Given the description of an element on the screen output the (x, y) to click on. 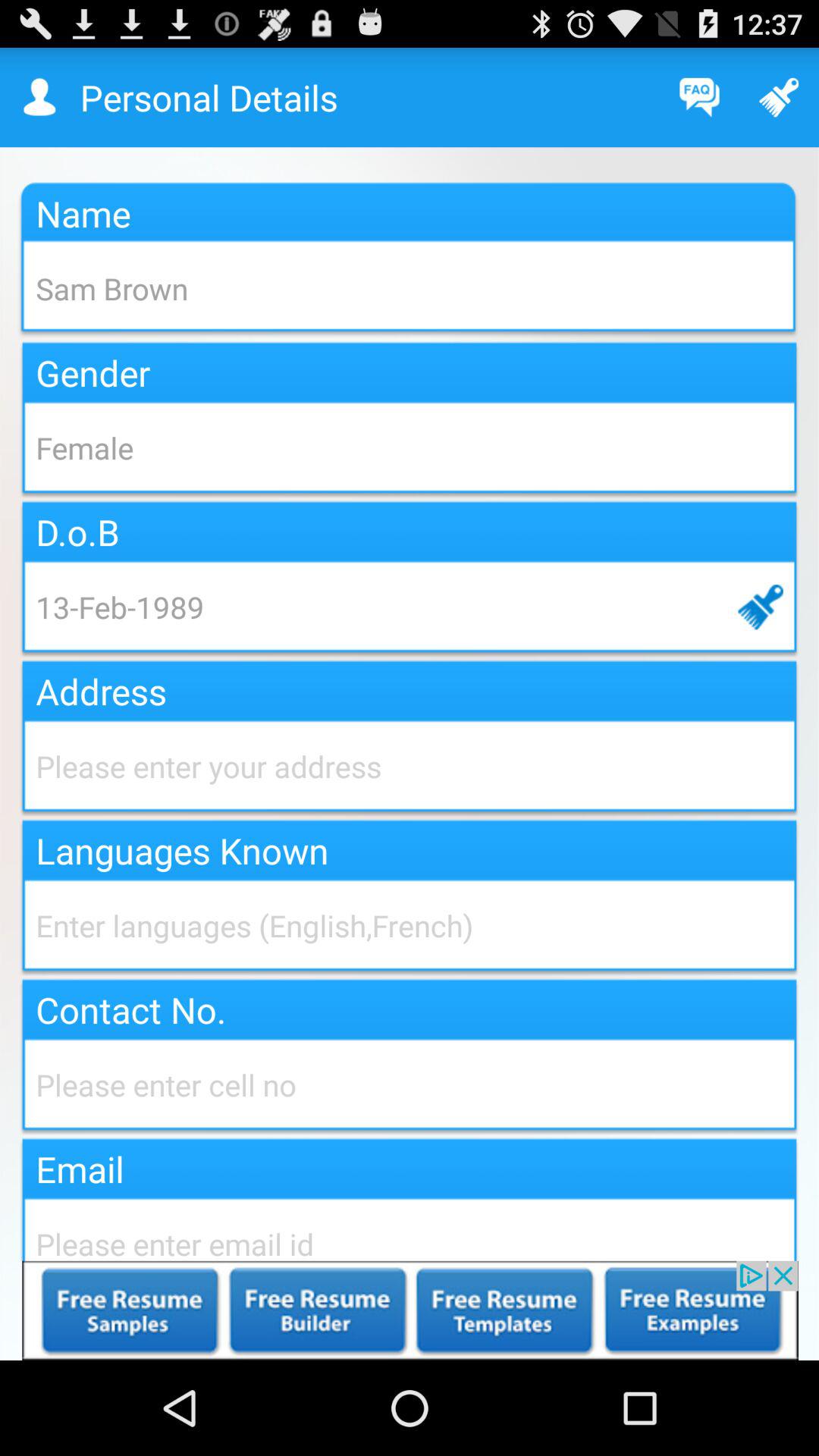
enter email id (409, 1227)
